Given the description of an element on the screen output the (x, y) to click on. 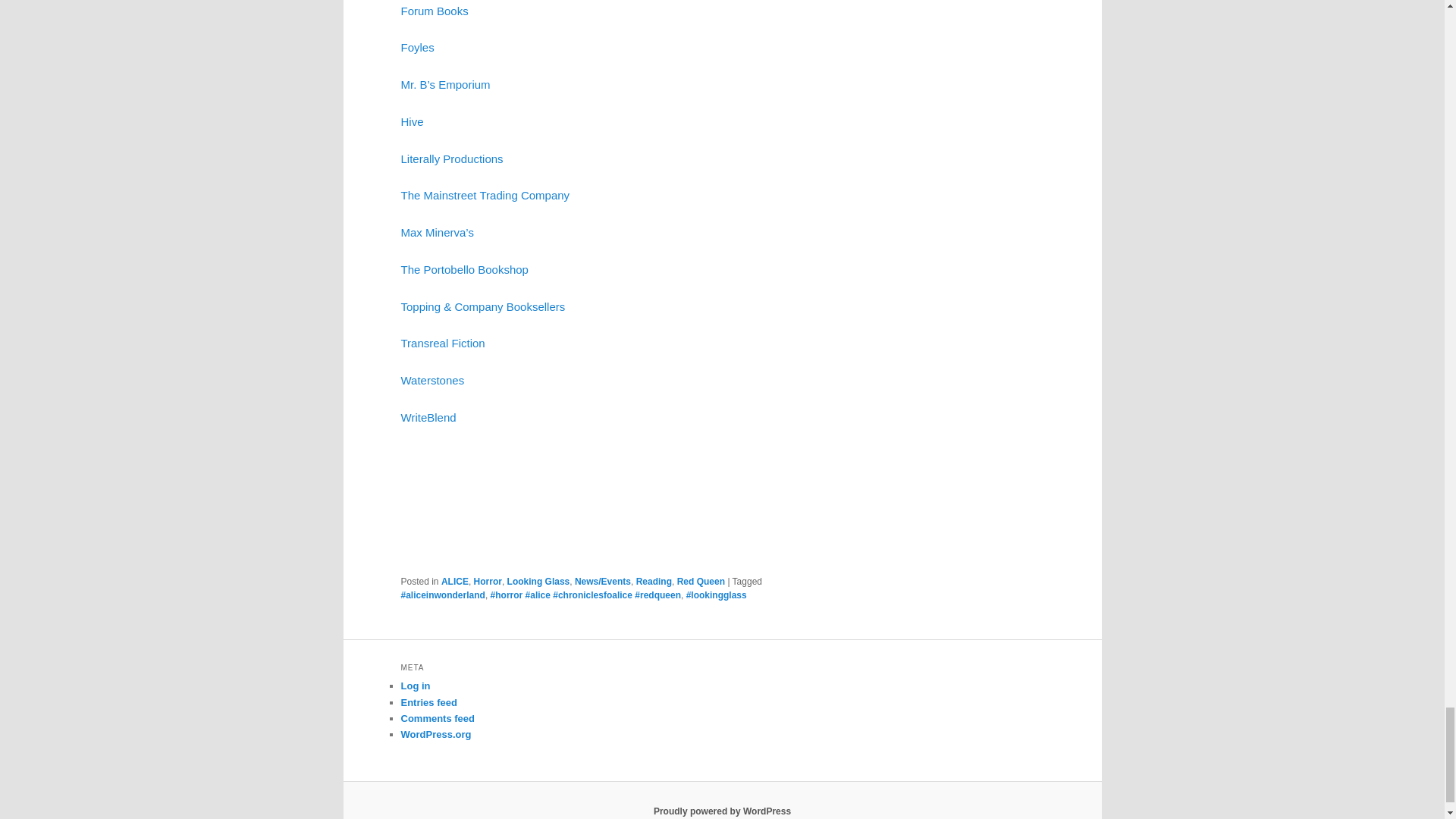
Semantic Personal Publishing Platform (721, 810)
